Given the description of an element on the screen output the (x, y) to click on. 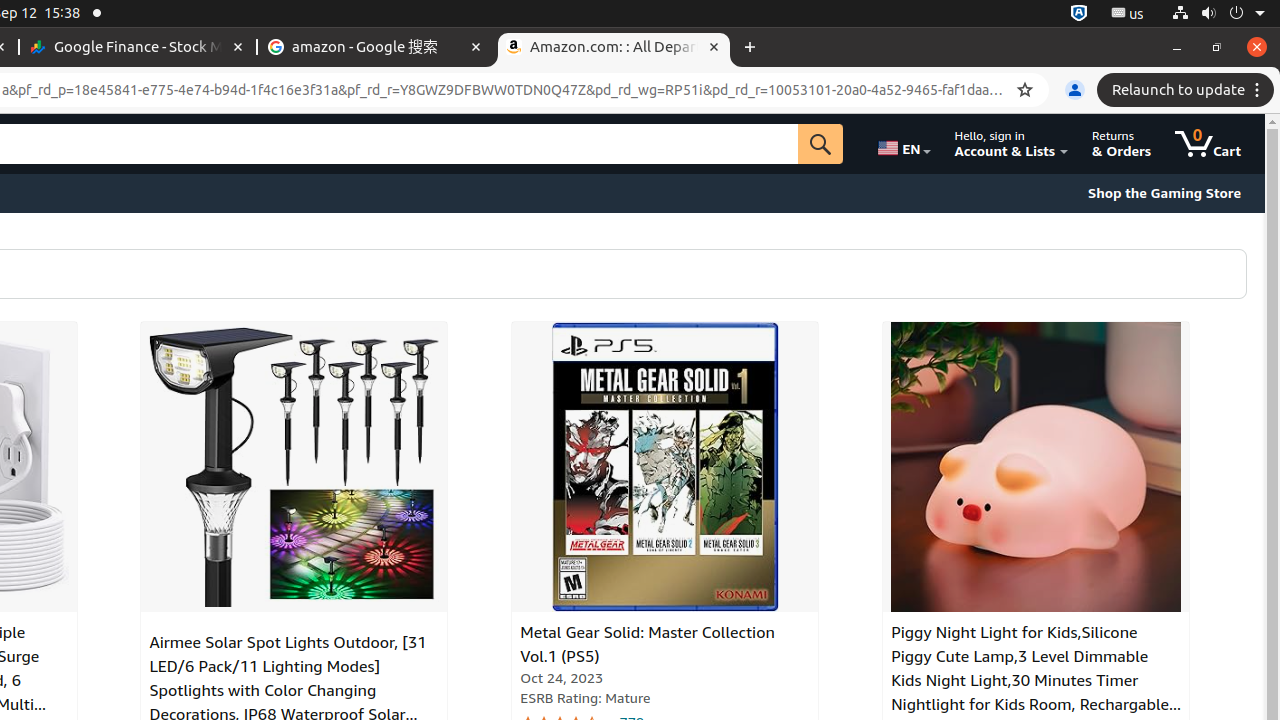
Metal Gear Solid: Master Collection Vol.1 (PS5) Element type: link (665, 467)
amazon - Google 搜索 - Memory usage - 96.2 MB Element type: page-tab (376, 47)
Shop the Gaming Store Element type: link (1164, 193)
Relaunch to update Element type: push-button (1188, 90)
Bookmark this tab Element type: push-button (1025, 90)
